Given the description of an element on the screen output the (x, y) to click on. 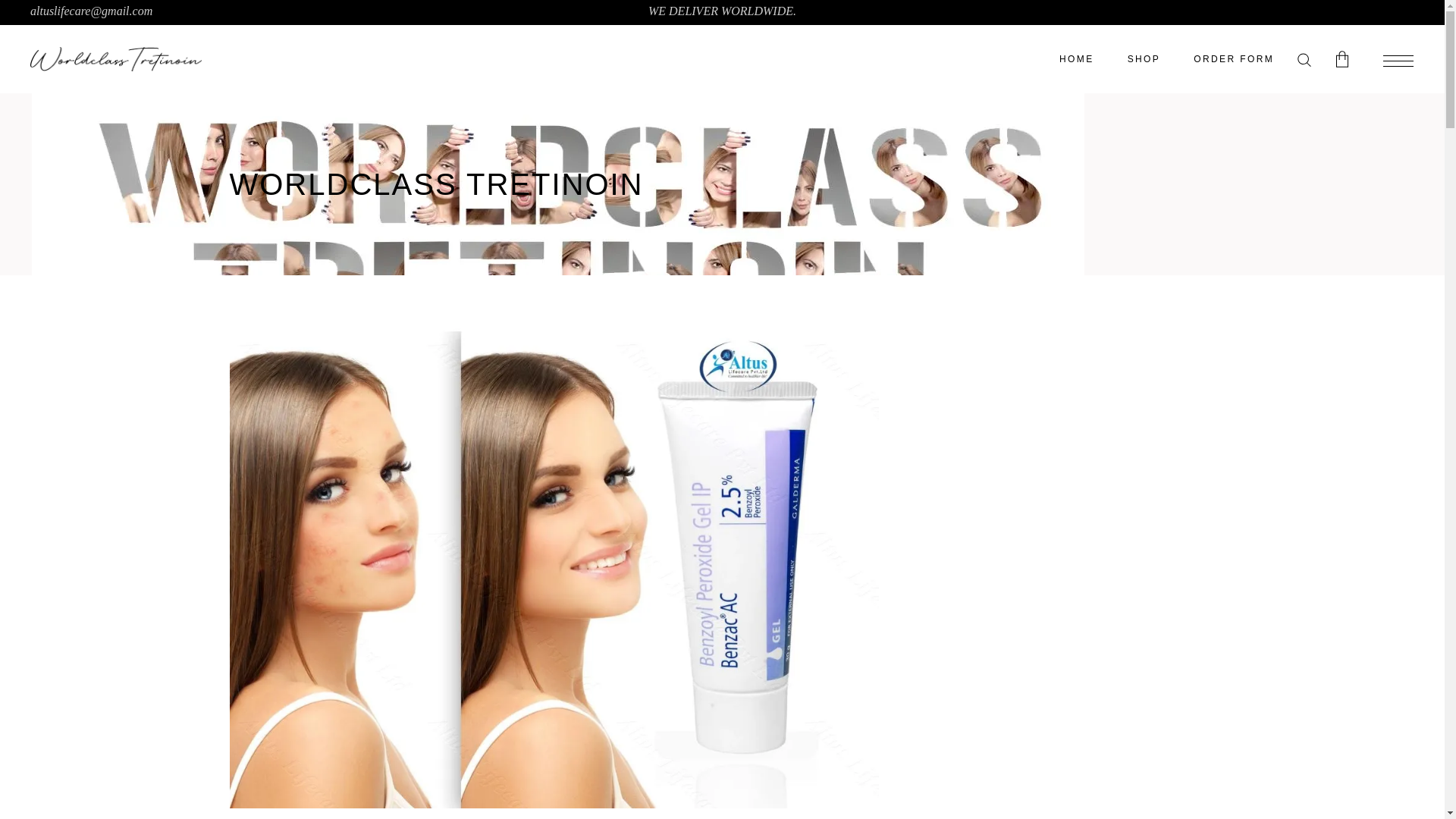
ORDER FORM (1233, 59)
SHOP (1143, 59)
HOME (1076, 59)
